Given the description of an element on the screen output the (x, y) to click on. 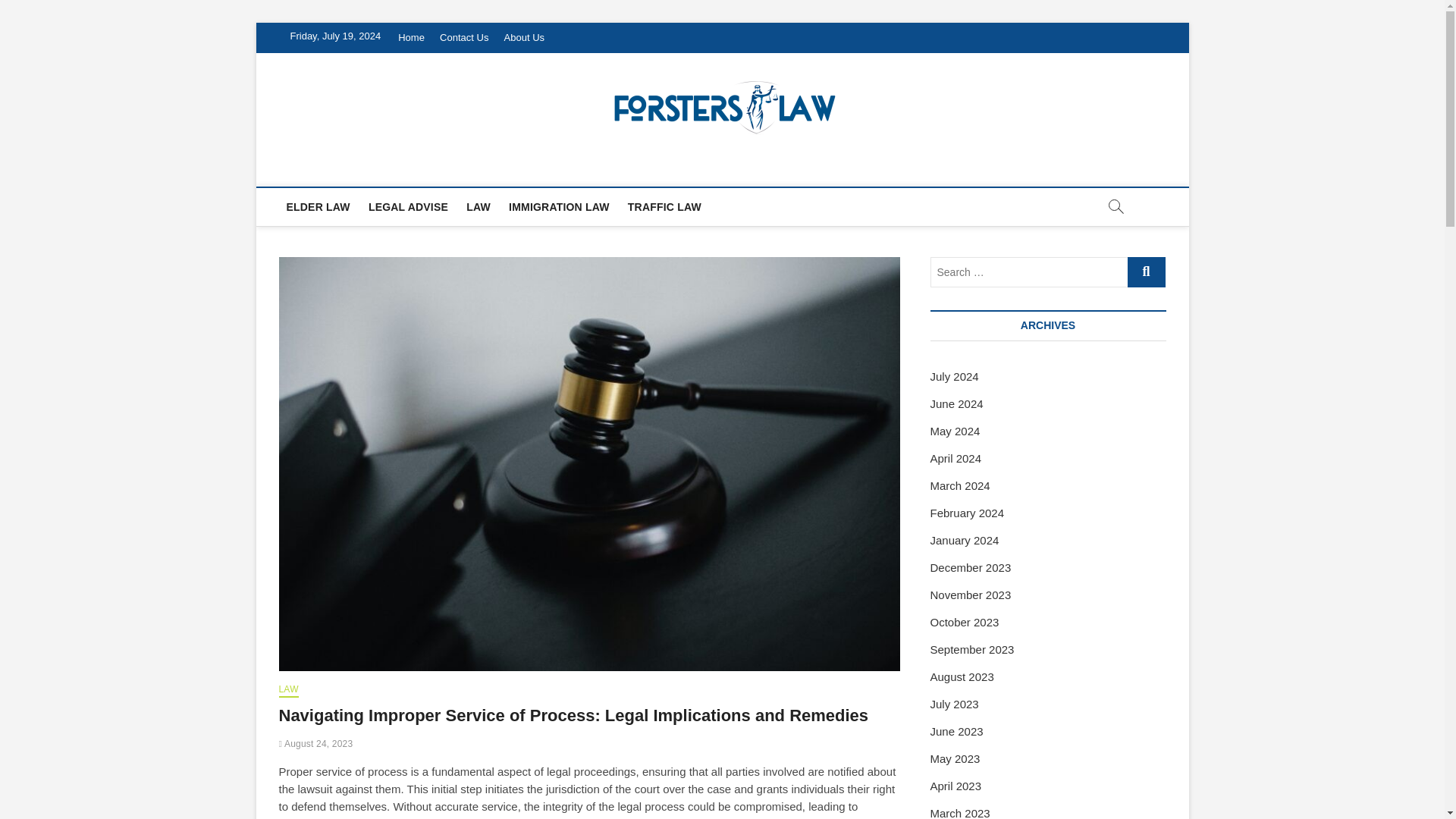
IMMIGRATION LAW (558, 207)
August 24, 2023 (316, 743)
March 2024 (960, 485)
TRAFFIC LAW (664, 207)
April 2023 (955, 785)
ELDER LAW (318, 207)
Contact Us (464, 37)
LAW (288, 690)
February 2024 (967, 512)
January 2024 (964, 540)
August 24, 2023 (316, 743)
Forsters-Law (365, 168)
May 2024 (954, 431)
August 2023 (961, 676)
May 2023 (954, 758)
